Given the description of an element on the screen output the (x, y) to click on. 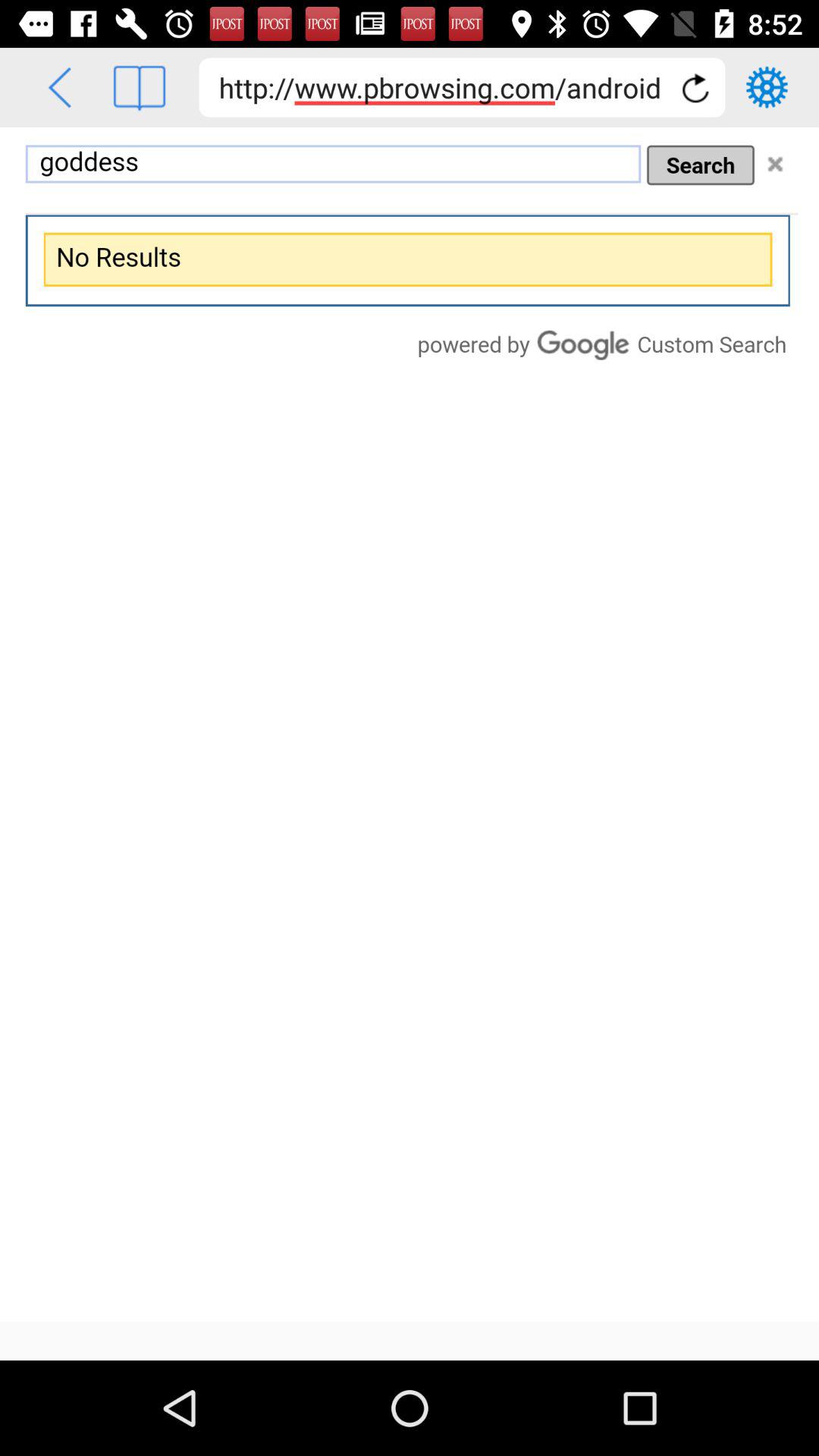
toggle view layout (139, 87)
